Given the description of an element on the screen output the (x, y) to click on. 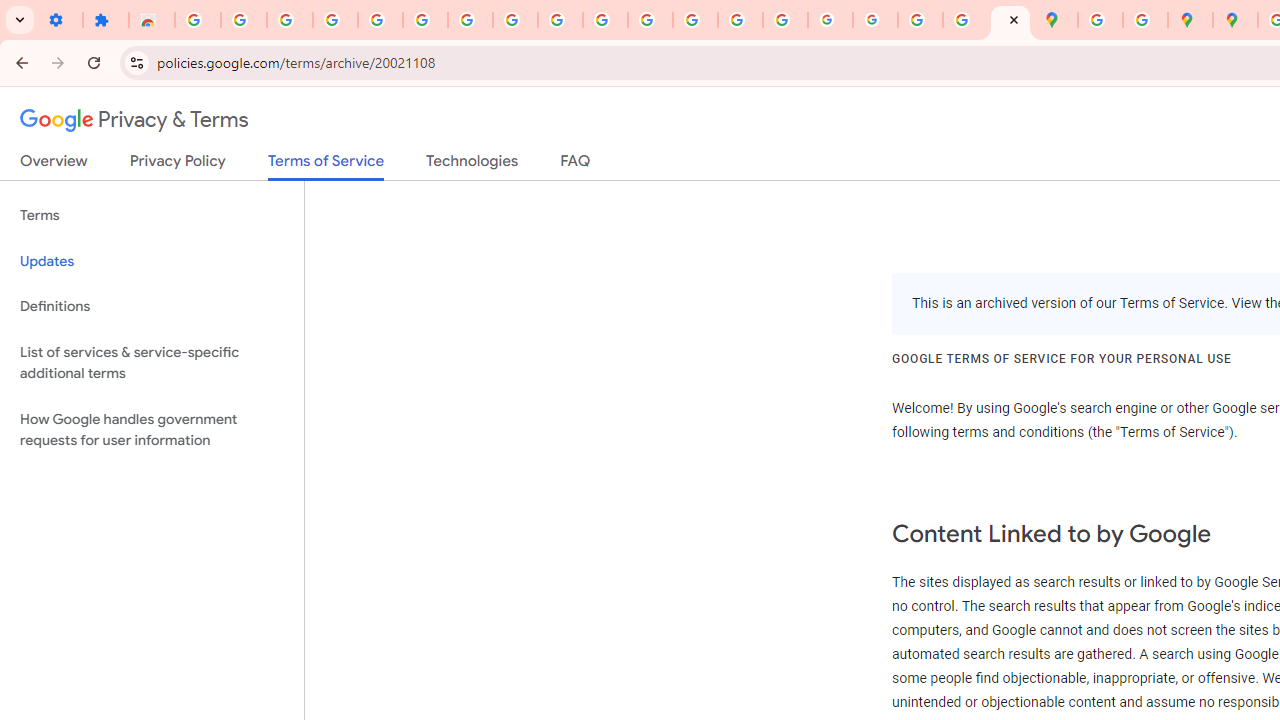
Definitions (152, 306)
Learn how to find your photos - Google Photos Help (335, 20)
Sign in - Google Accounts (425, 20)
Safety in Our Products - Google Safety Center (1145, 20)
Google Maps (1055, 20)
